Given the description of an element on the screen output the (x, y) to click on. 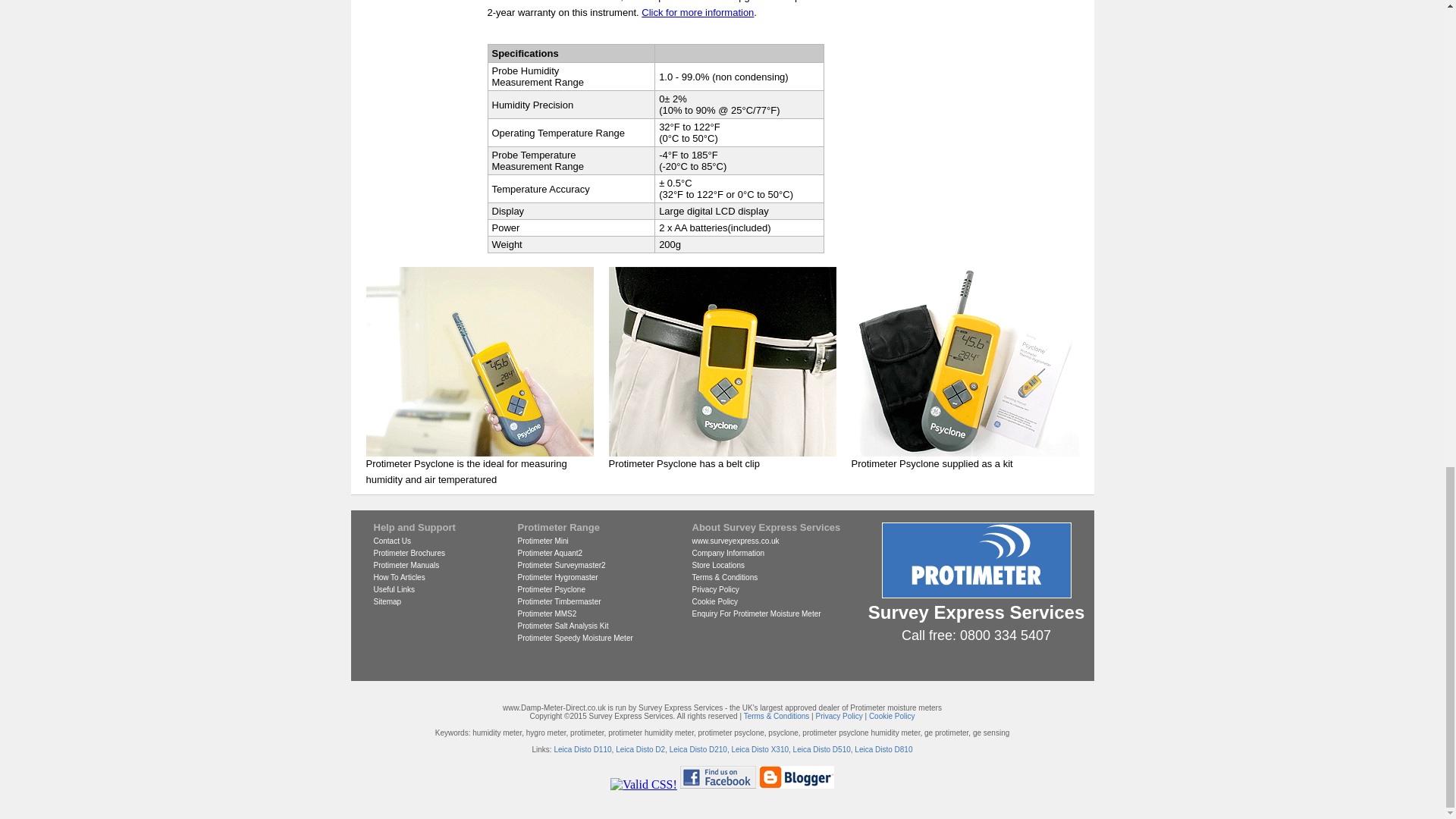
Click for more information (698, 12)
Protimeter Manuals (405, 565)
How To Articles (398, 577)
Protimeter Brochures (408, 552)
Contact Us (391, 541)
